Given the description of an element on the screen output the (x, y) to click on. 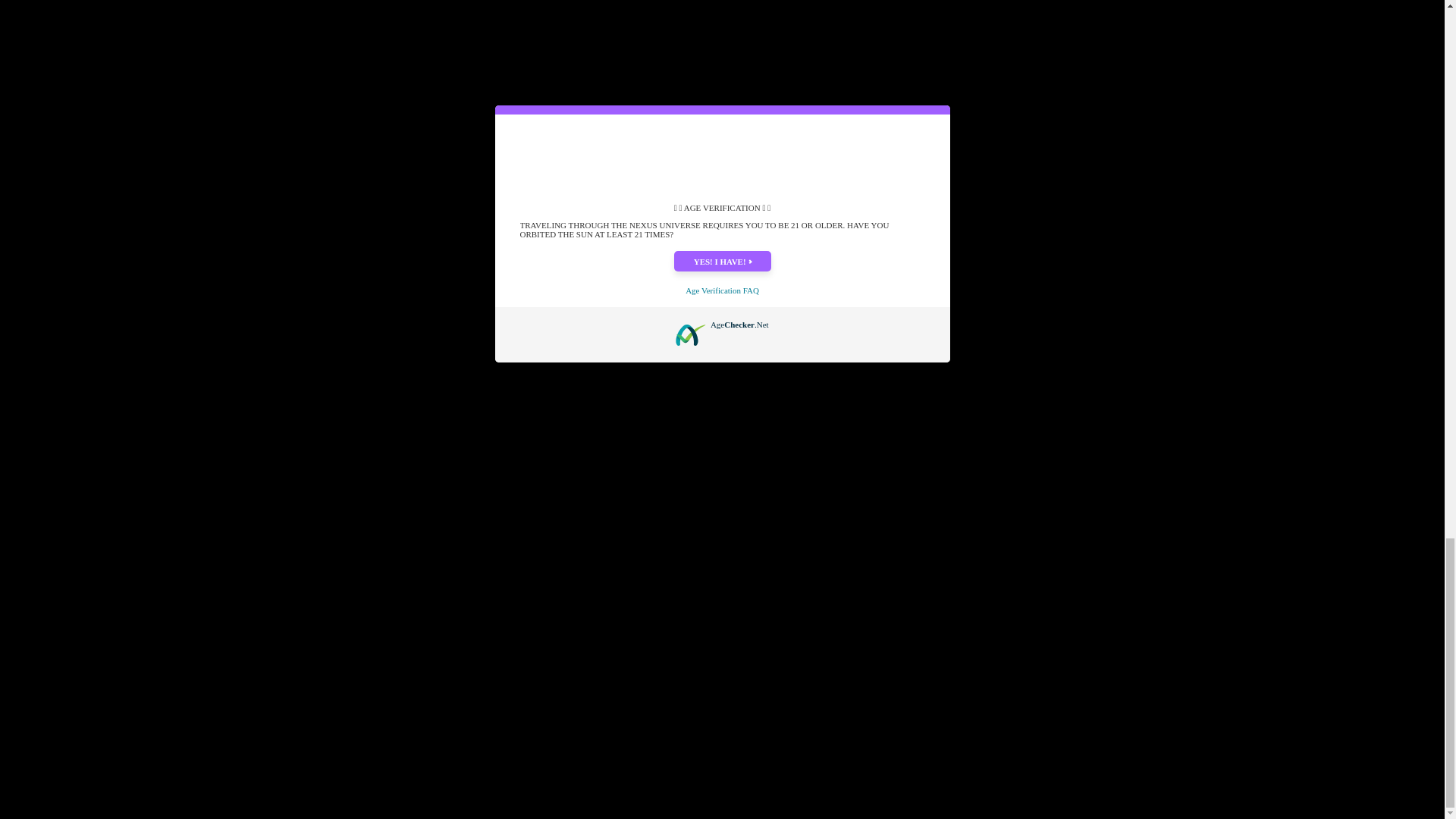
TikTok - Nexus Smoke (374, 492)
Twitter - Nexus Smoke (340, 492)
Instagram - Nexus Smoke (358, 492)
